Given the description of an element on the screen output the (x, y) to click on. 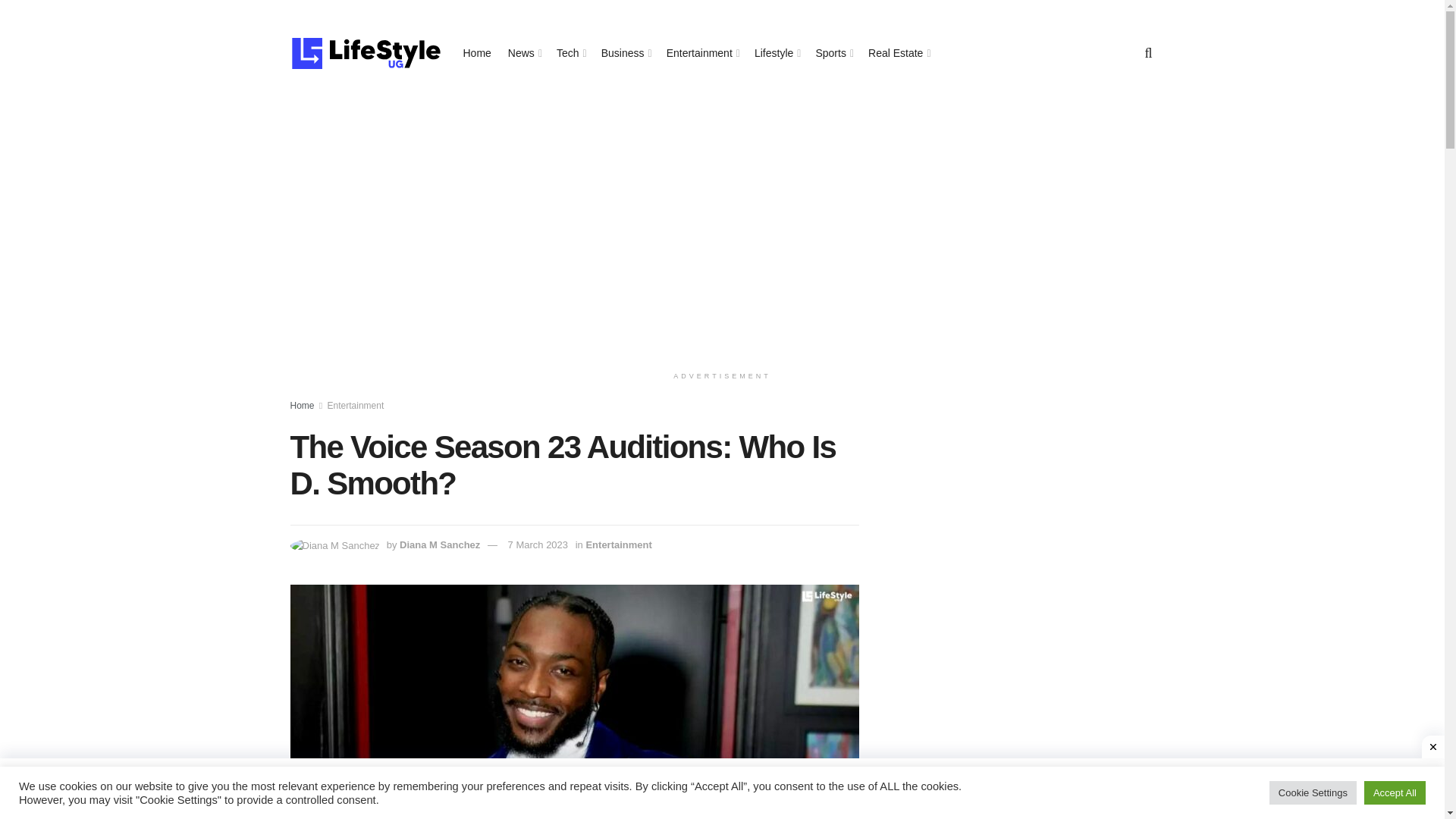
Home (476, 52)
7 March 2023 (538, 544)
Lifestyle (775, 52)
Entertainment (617, 544)
Sports (833, 52)
Real Estate (897, 52)
Diana M Sanchez (439, 544)
Business (625, 52)
Tech (570, 52)
